Given the description of an element on the screen output the (x, y) to click on. 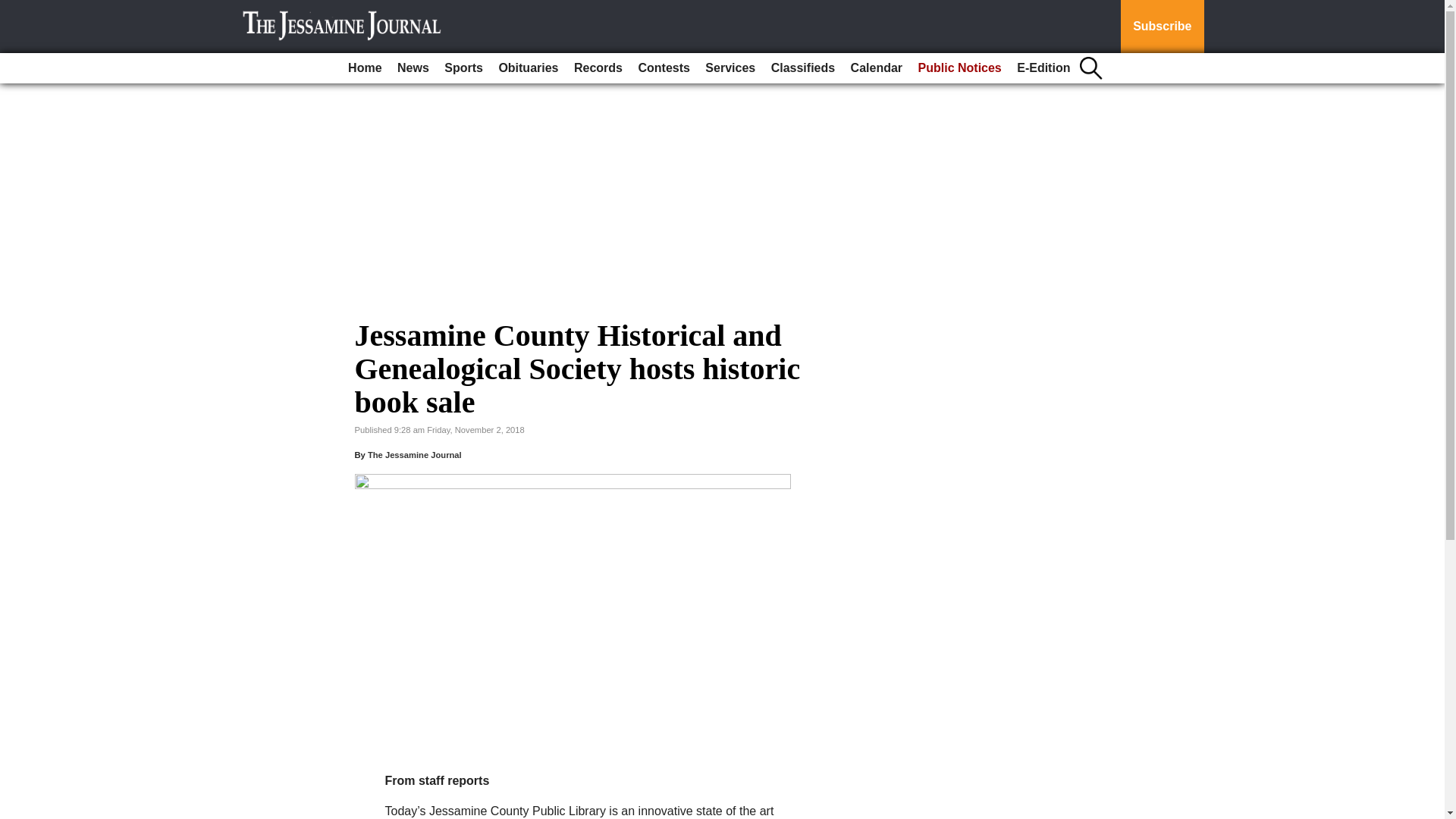
Classifieds (803, 68)
Home (364, 68)
The Jessamine Journal (414, 454)
Services (729, 68)
Contests (663, 68)
Calendar (876, 68)
Subscribe (1162, 26)
Public Notices (959, 68)
News (413, 68)
E-Edition (1042, 68)
